Given the description of an element on the screen output the (x, y) to click on. 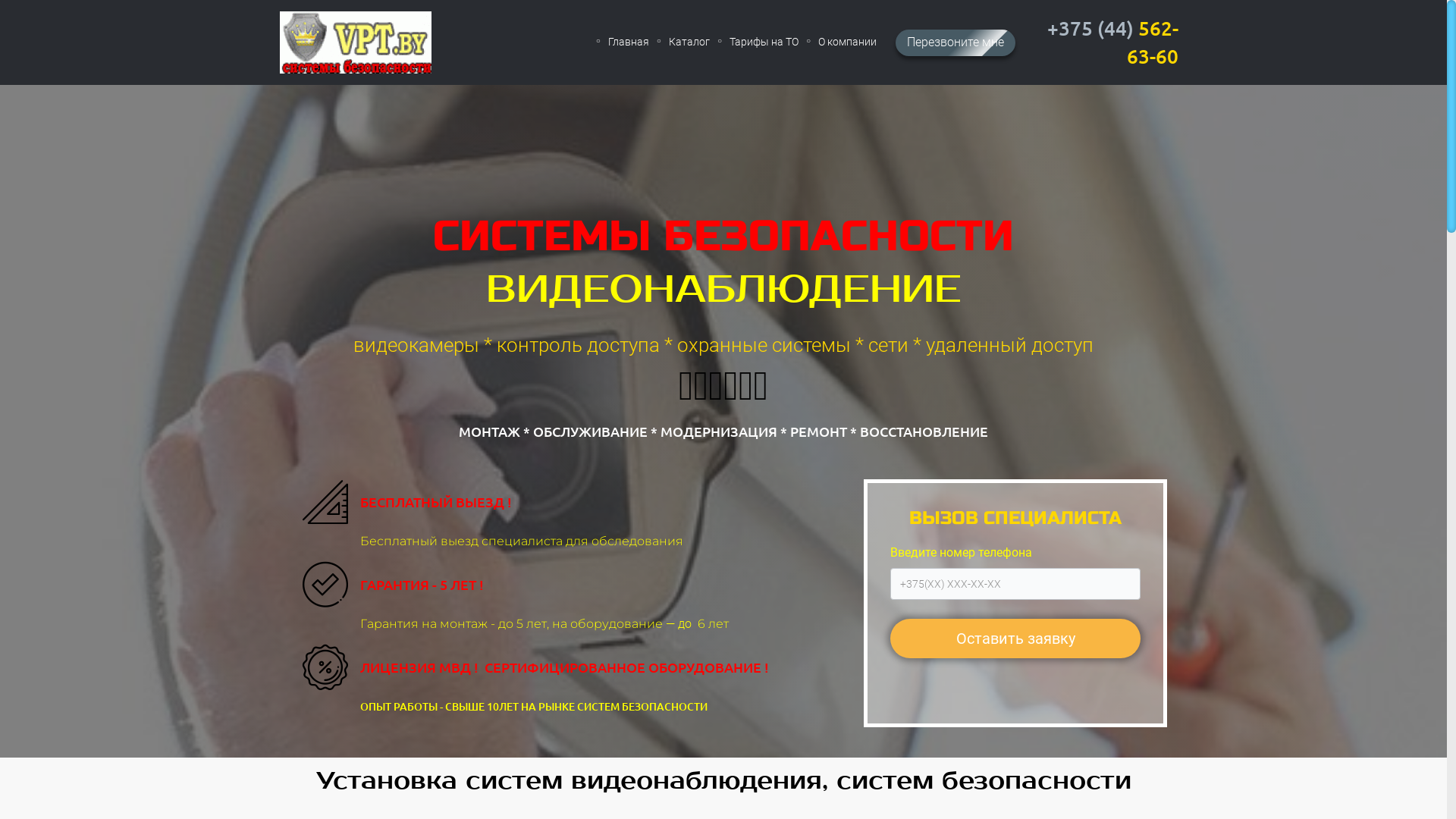
+375 (44) 562-63-60 Element type: text (1102, 42)
